Given the description of an element on the screen output the (x, y) to click on. 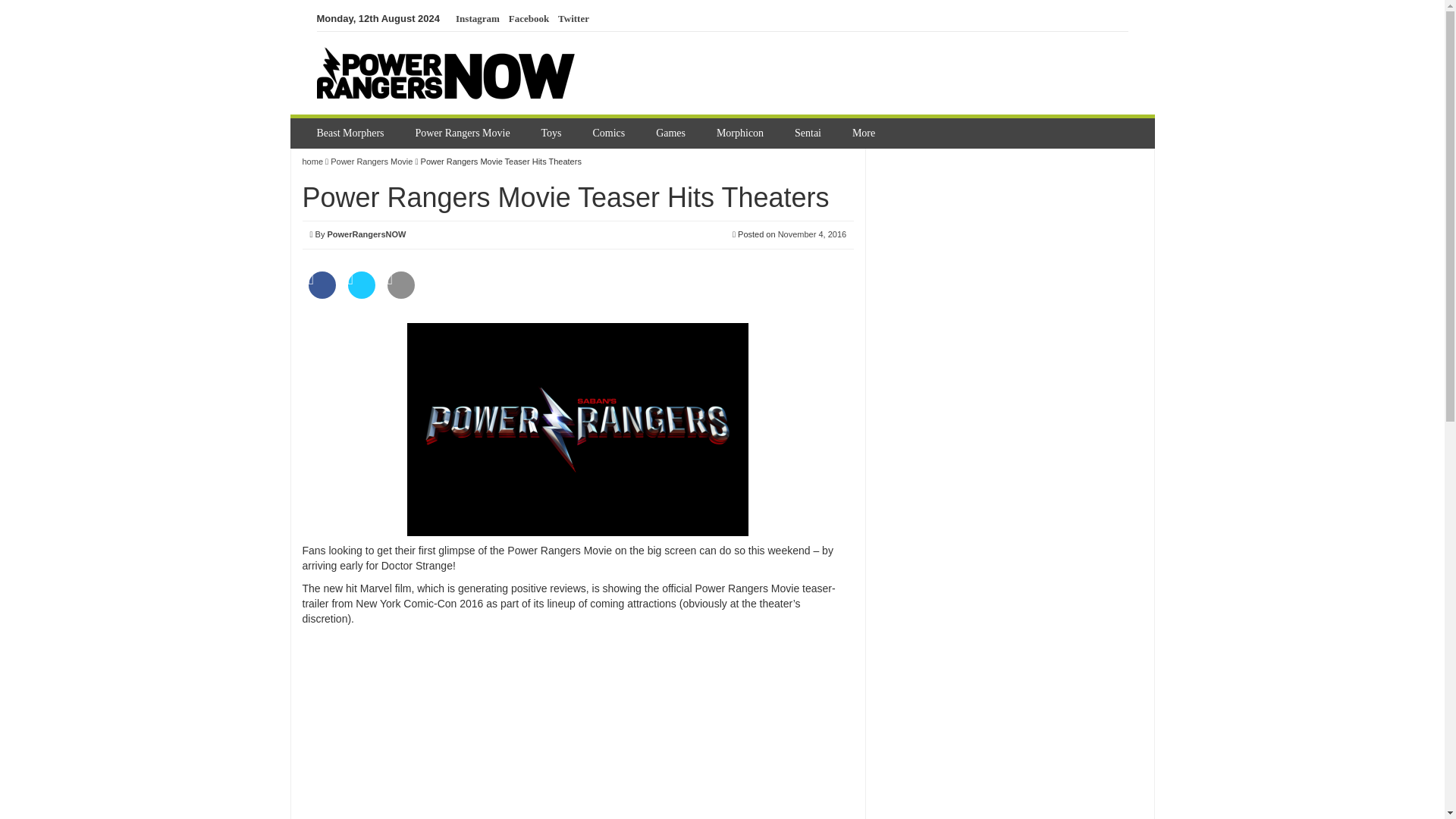
Facebook (528, 19)
Comics (610, 132)
Toys (553, 132)
Twitter (573, 19)
Sentai (809, 132)
Instagram (477, 19)
Beast Morphers (352, 132)
home (312, 161)
Games (672, 132)
Power Rangers Movie (464, 132)
